Given the description of an element on the screen output the (x, y) to click on. 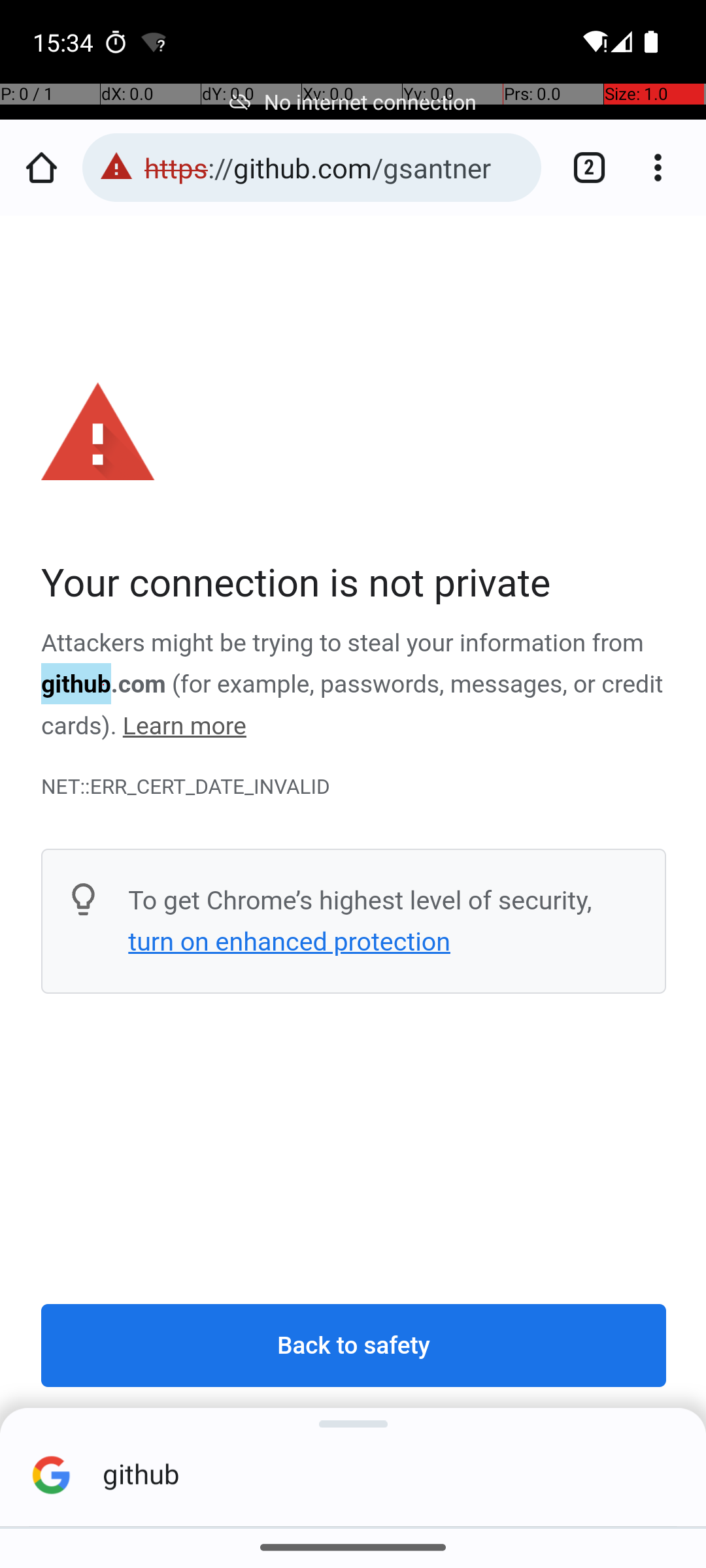
https://github.com/gsantner Element type: android.widget.EditText (335, 167)
